Given the description of an element on the screen output the (x, y) to click on. 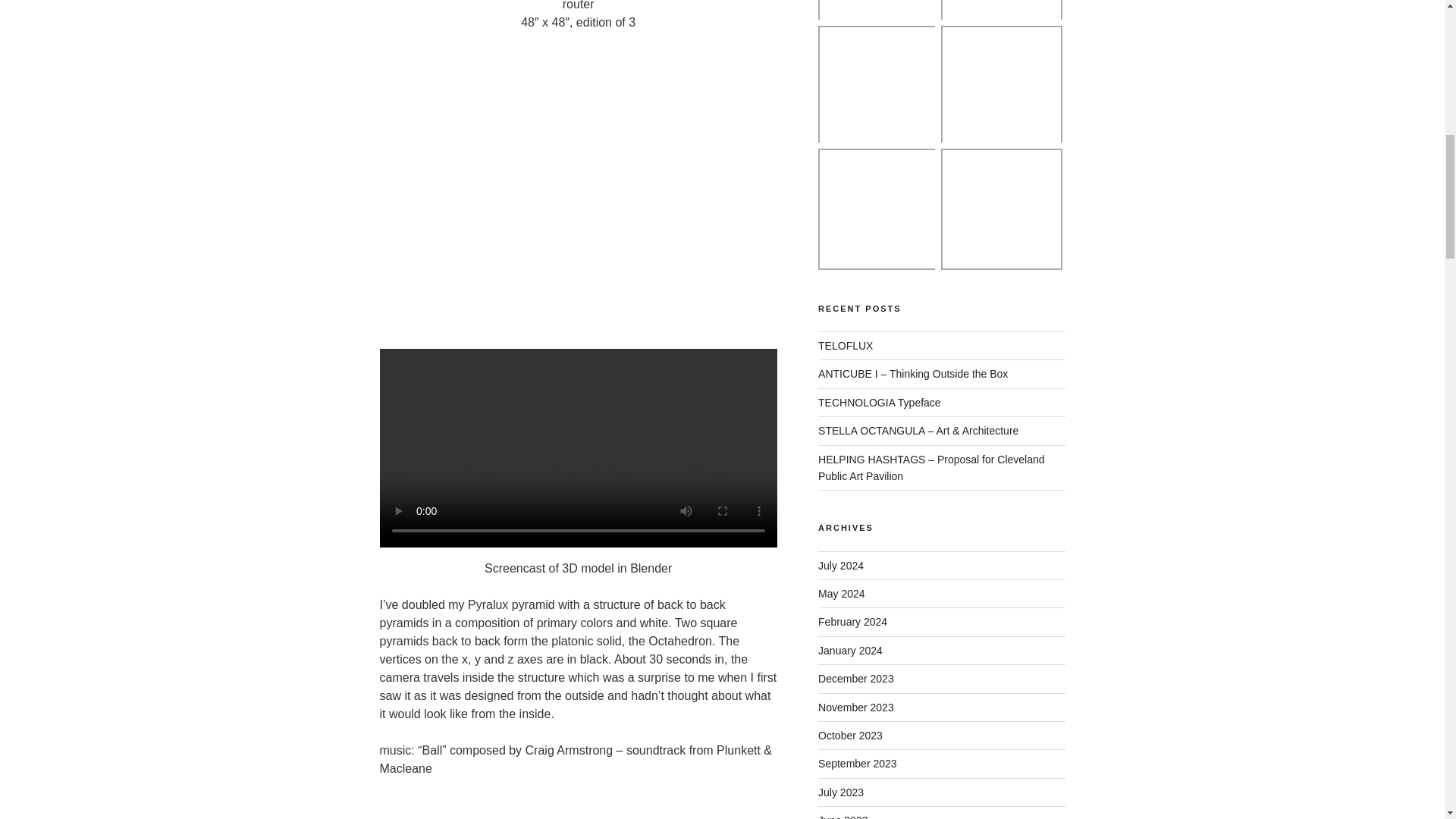
CIRCULUX I (878, 209)
Path Of Travel No.1 (1001, 86)
Landscape (878, 86)
Flesh And Blood (878, 12)
